Given the description of an element on the screen output the (x, y) to click on. 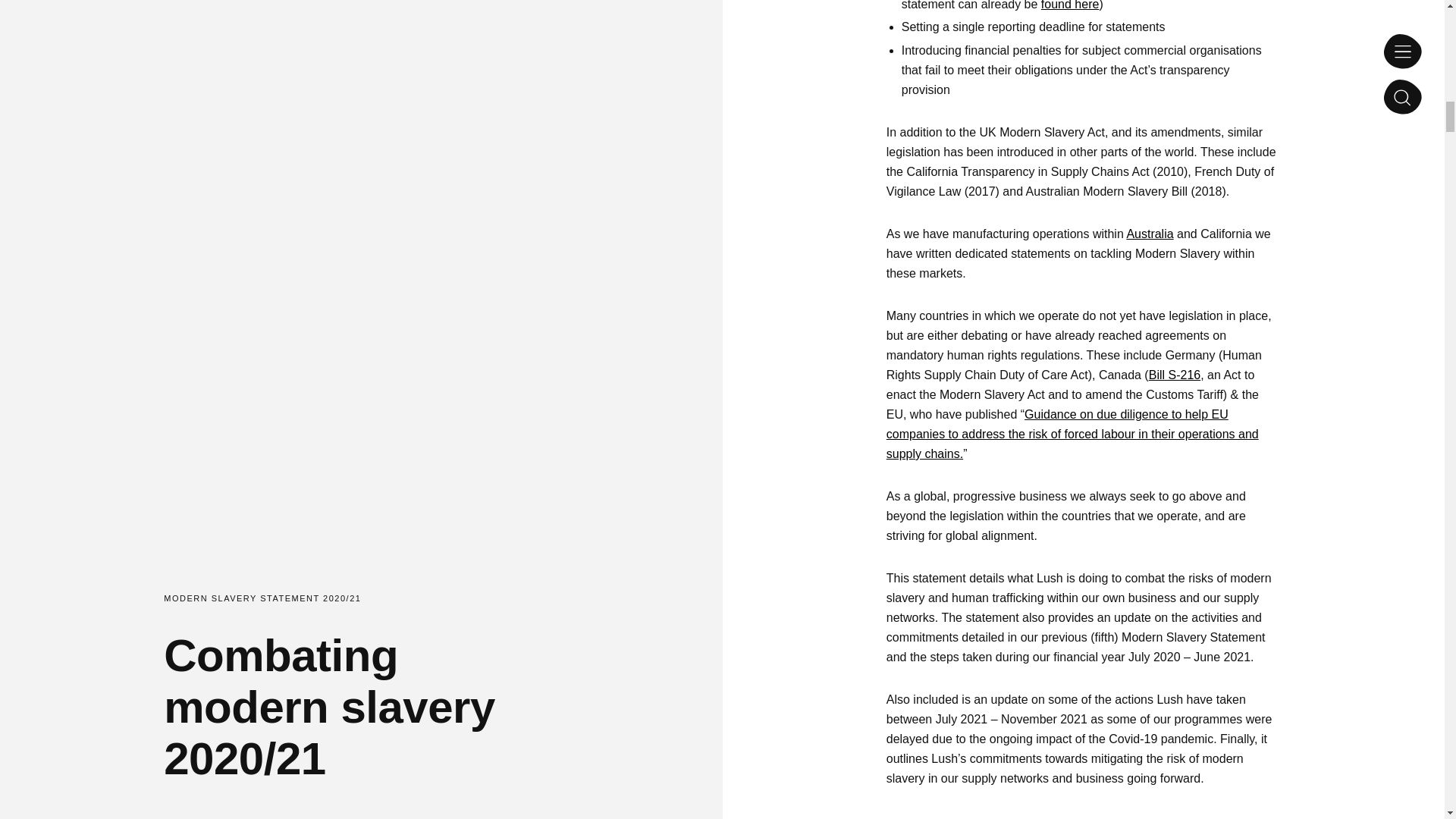
Australia (1149, 233)
found here (1070, 4)
Bill S-216 (1173, 374)
